Given the description of an element on the screen output the (x, y) to click on. 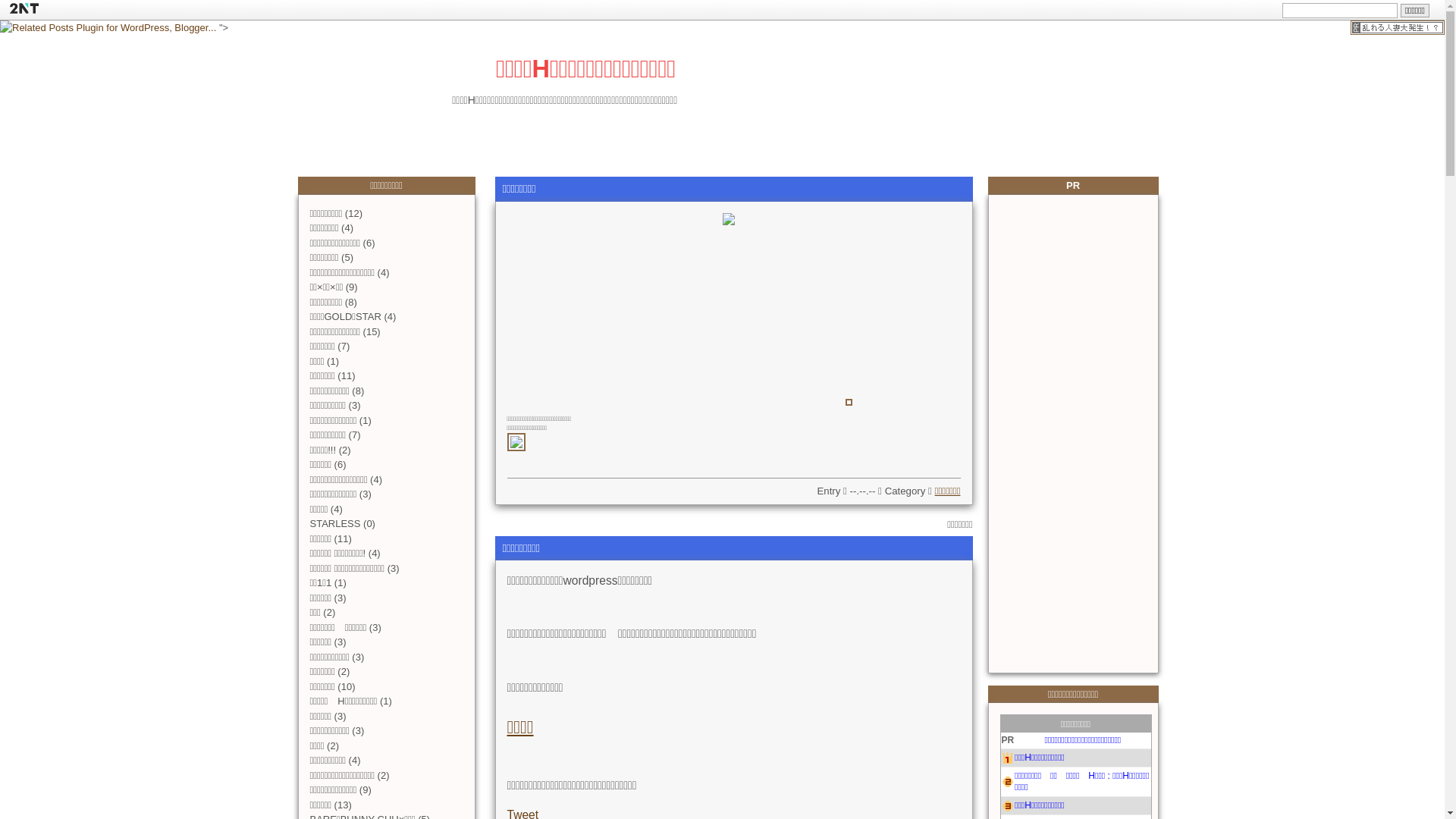
. Element type: text (683, 464)
STARLESS (0) Element type: text (341, 523)
. Element type: text (645, 464)
. Element type: text (607, 464)
. Element type: text (531, 464)
. Element type: text (569, 464)
